Given the description of an element on the screen output the (x, y) to click on. 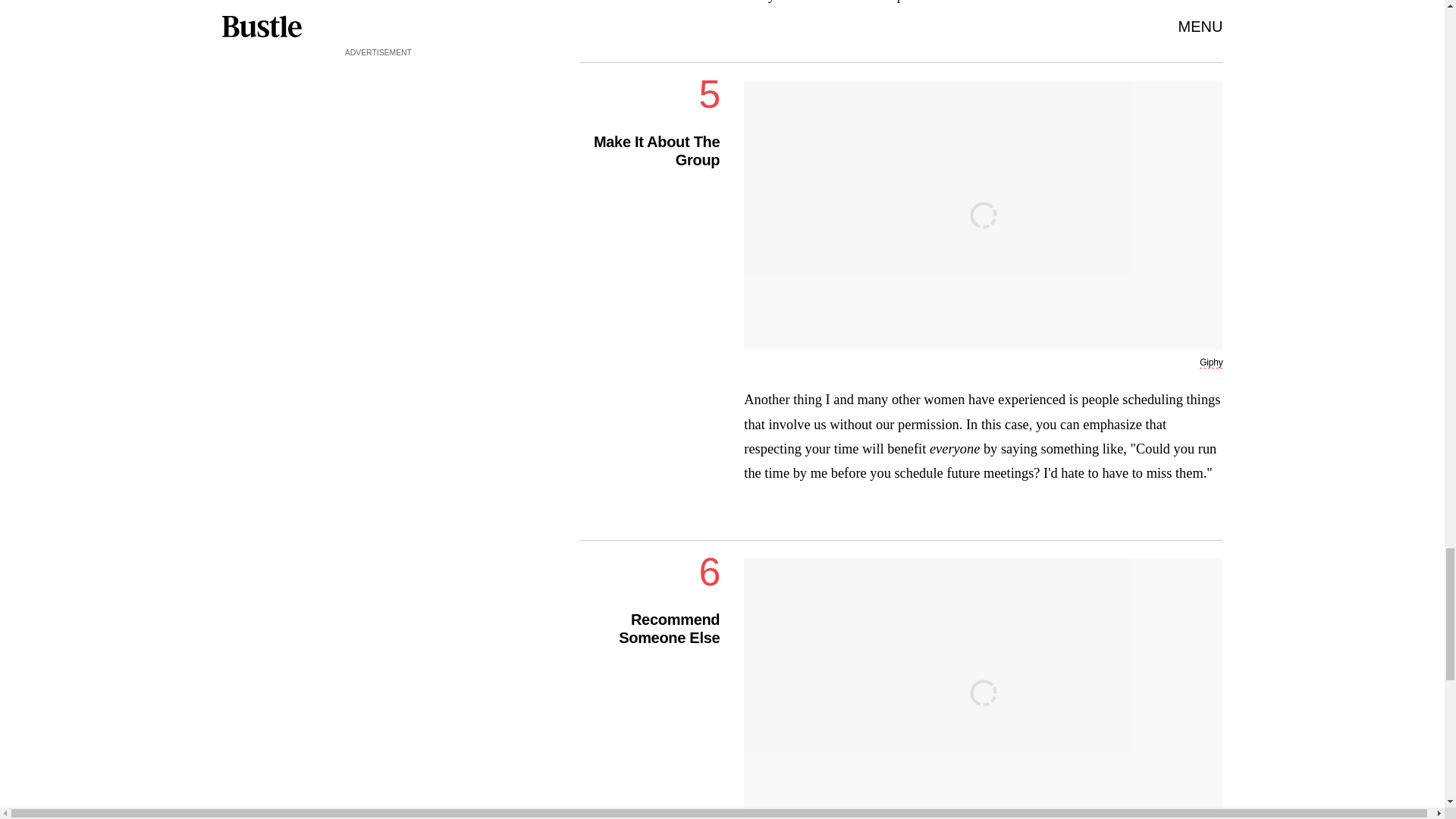
Giphy (1211, 362)
